Given the description of an element on the screen output the (x, y) to click on. 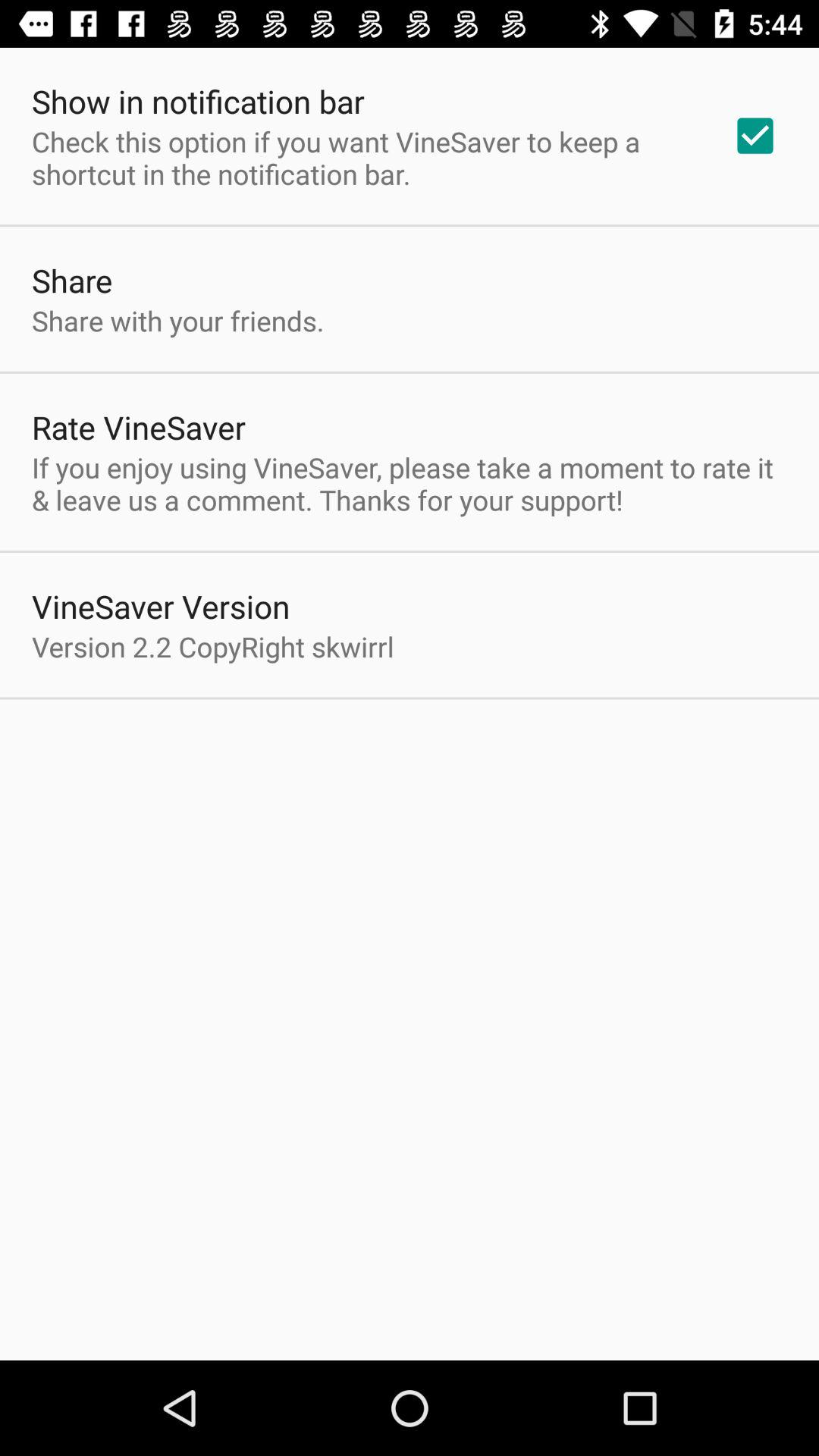
tap icon at the top right corner (755, 135)
